Given the description of an element on the screen output the (x, y) to click on. 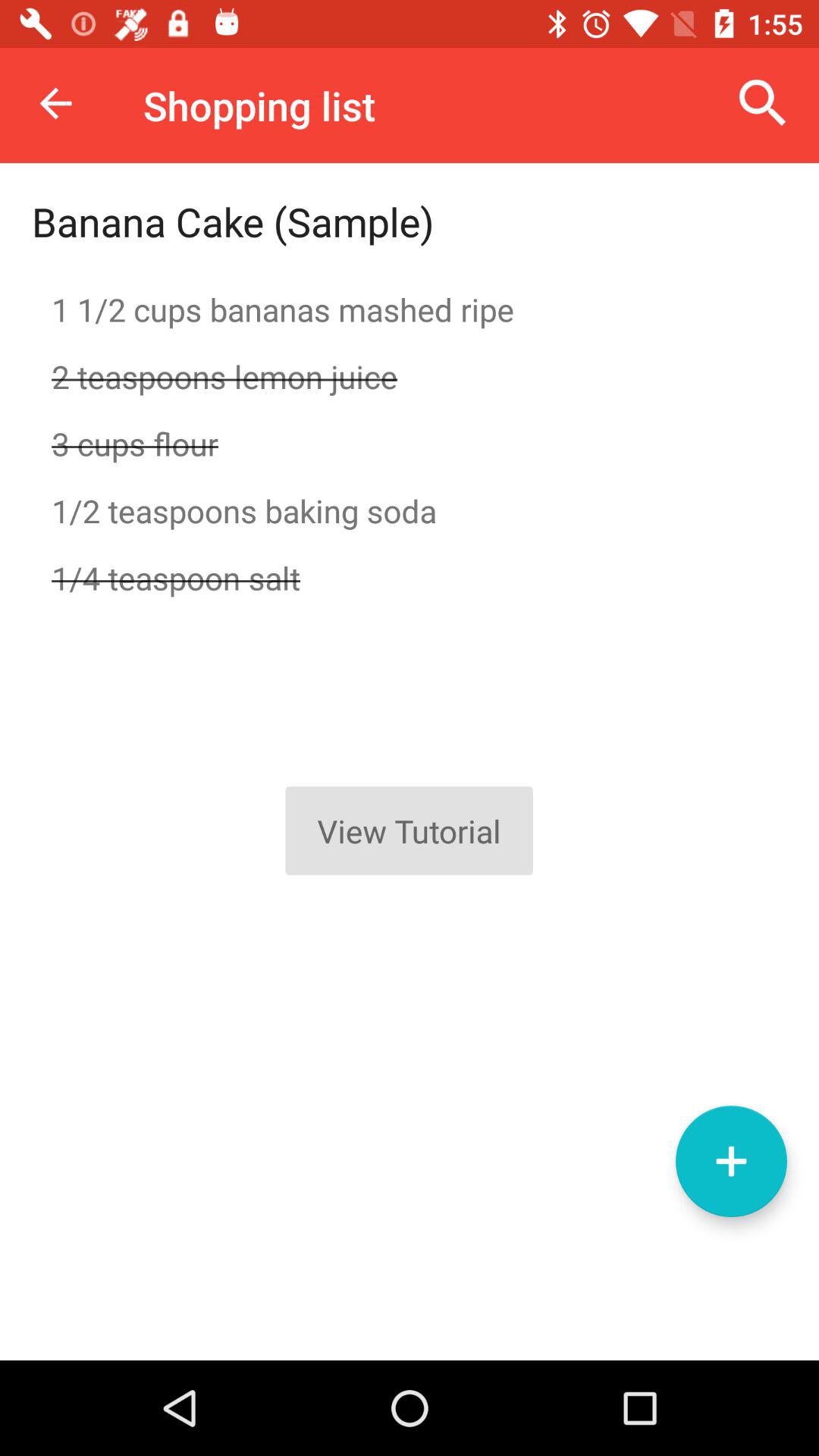
choose icon at the top right corner (763, 103)
